Given the description of an element on the screen output the (x, y) to click on. 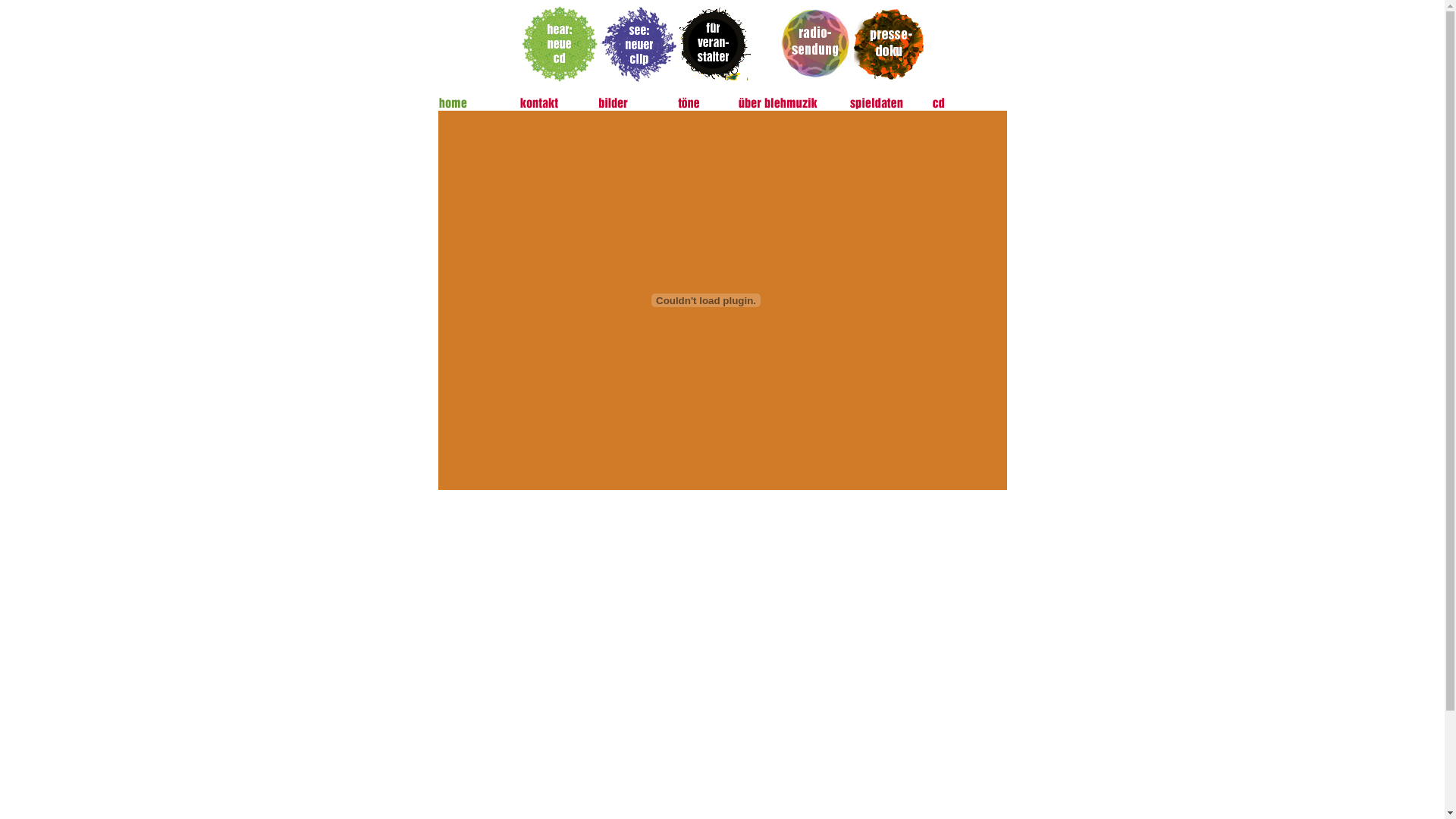
blehfilm Element type: hover (706, 473)
